Given the description of an element on the screen output the (x, y) to click on. 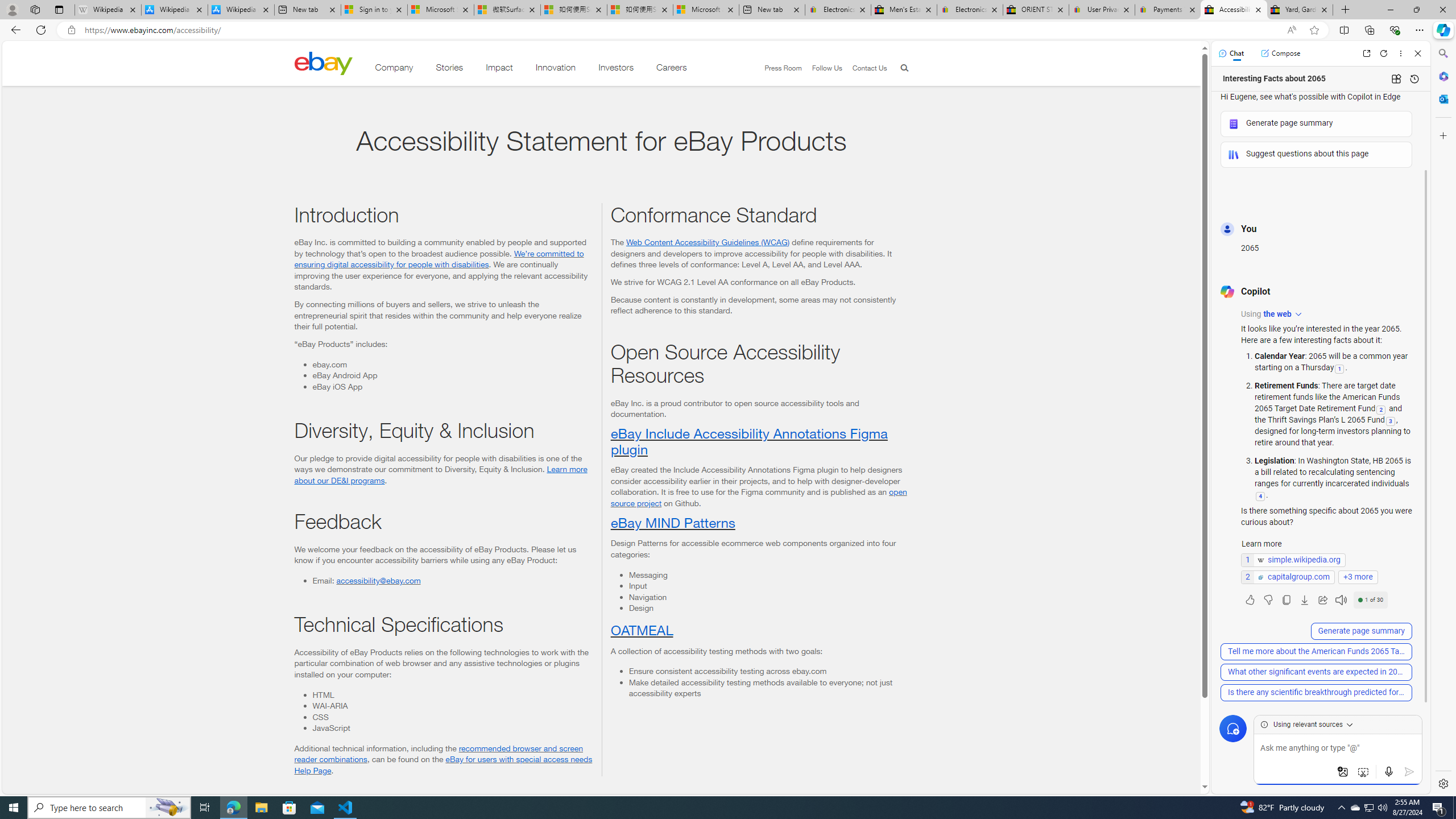
Press Room (783, 67)
Innovation (555, 69)
Impact (499, 69)
Outlook (1442, 98)
HTML (451, 694)
Stories (449, 69)
User Privacy Notice | eBay (1102, 9)
Open link in new tab (1366, 53)
WAI-ARIA (451, 705)
